Given the description of an element on the screen output the (x, y) to click on. 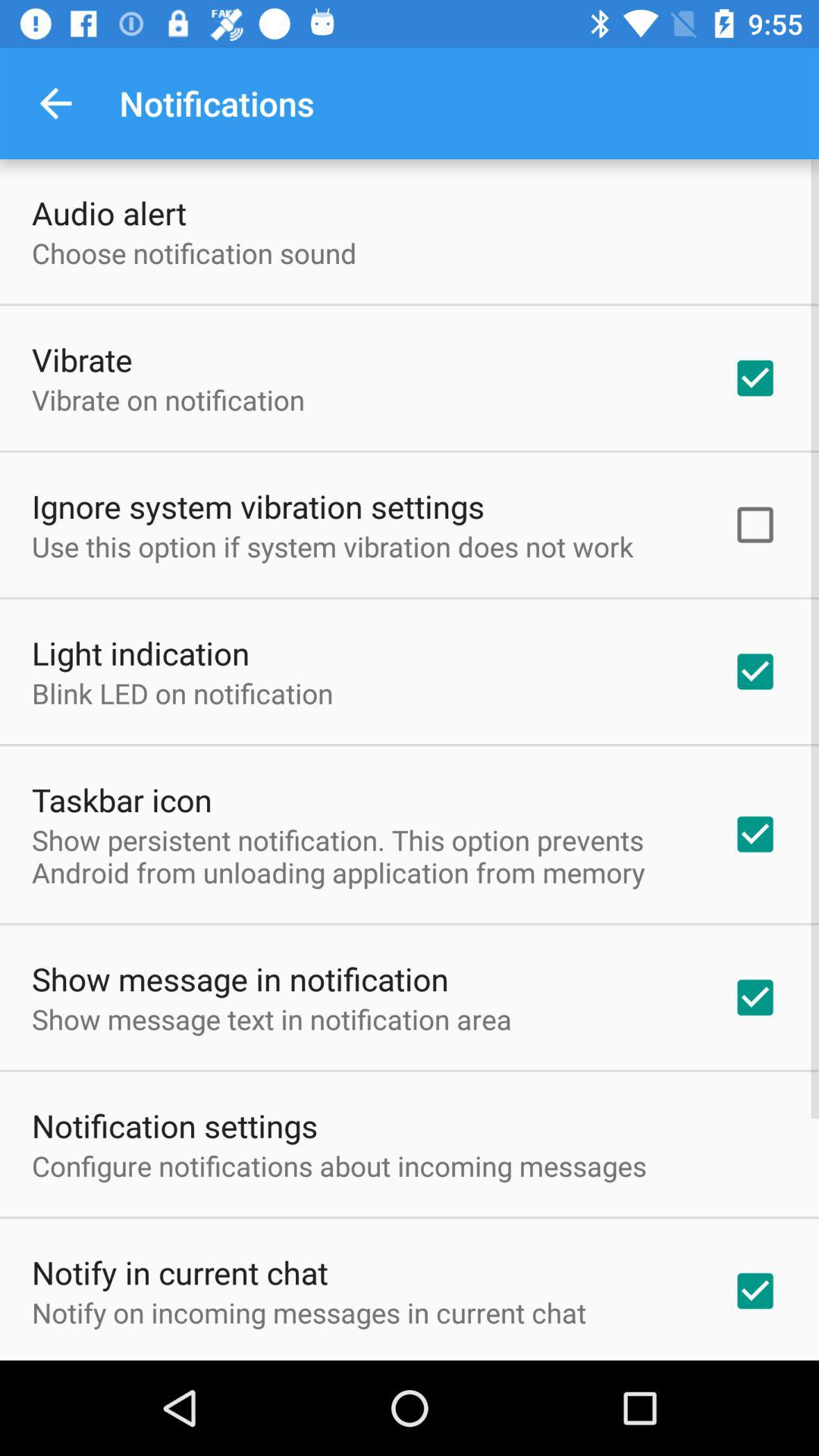
turn on item below the blink led on icon (121, 799)
